Given the description of an element on the screen output the (x, y) to click on. 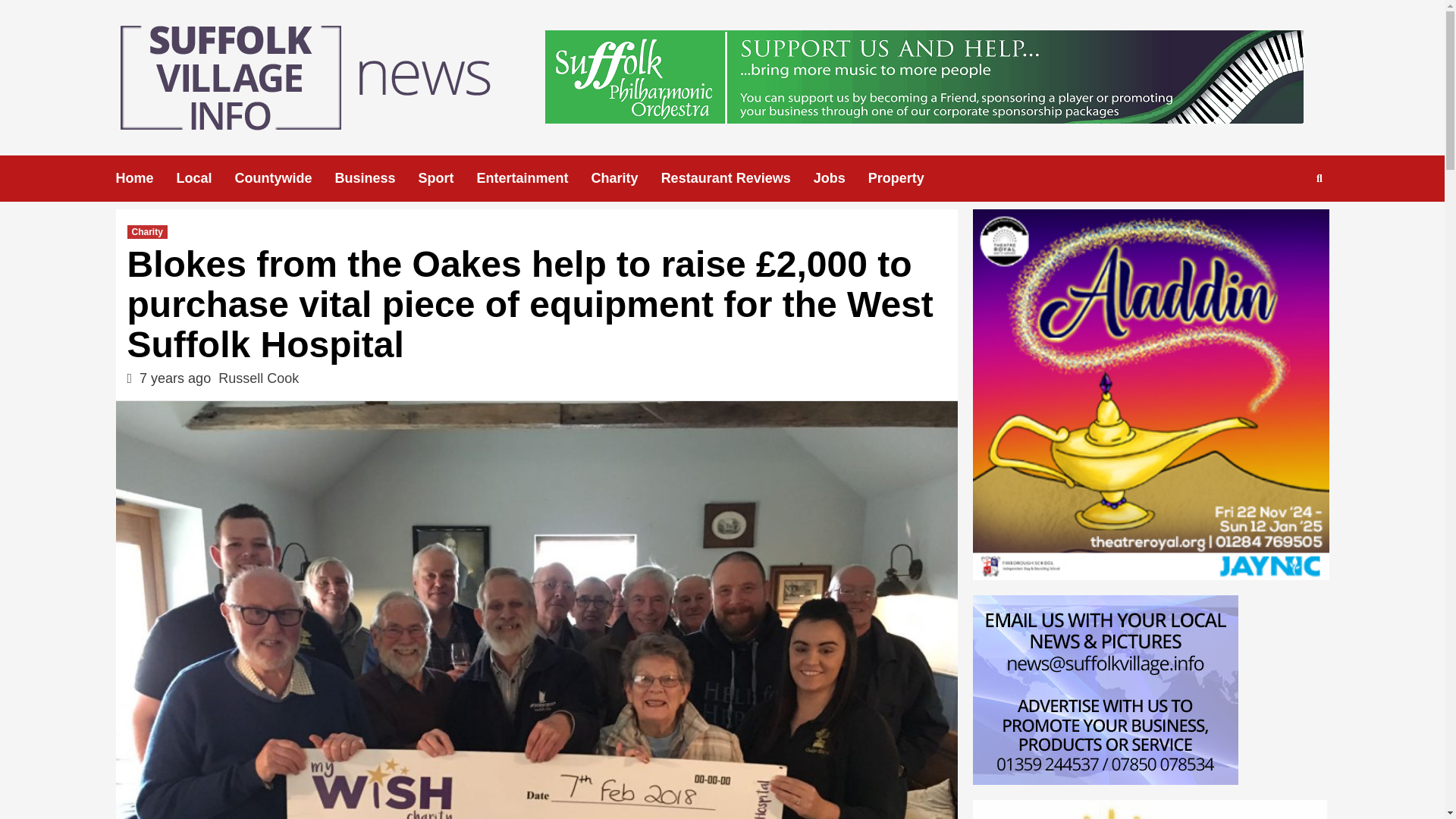
Sport (448, 178)
Business (376, 178)
Charity (147, 232)
Search (1283, 226)
Local (205, 178)
Charity (626, 178)
Restaurant Reviews (737, 178)
Jobs (840, 178)
Property (907, 178)
Entertainment (534, 178)
